Given the description of an element on the screen output the (x, y) to click on. 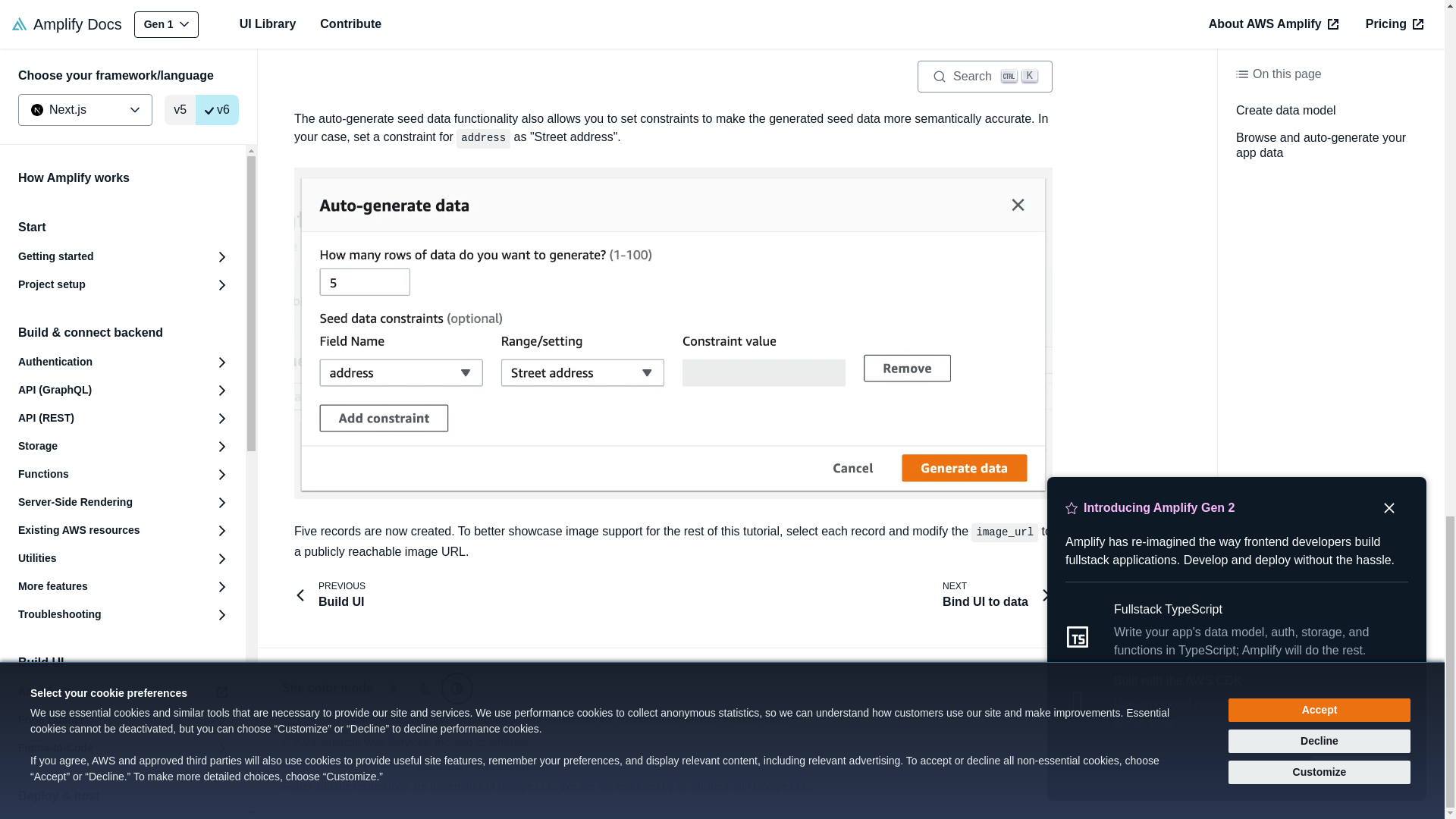
Dark mode (425, 688)
System preferences (457, 688)
Light mode (393, 688)
